Given the description of an element on the screen output the (x, y) to click on. 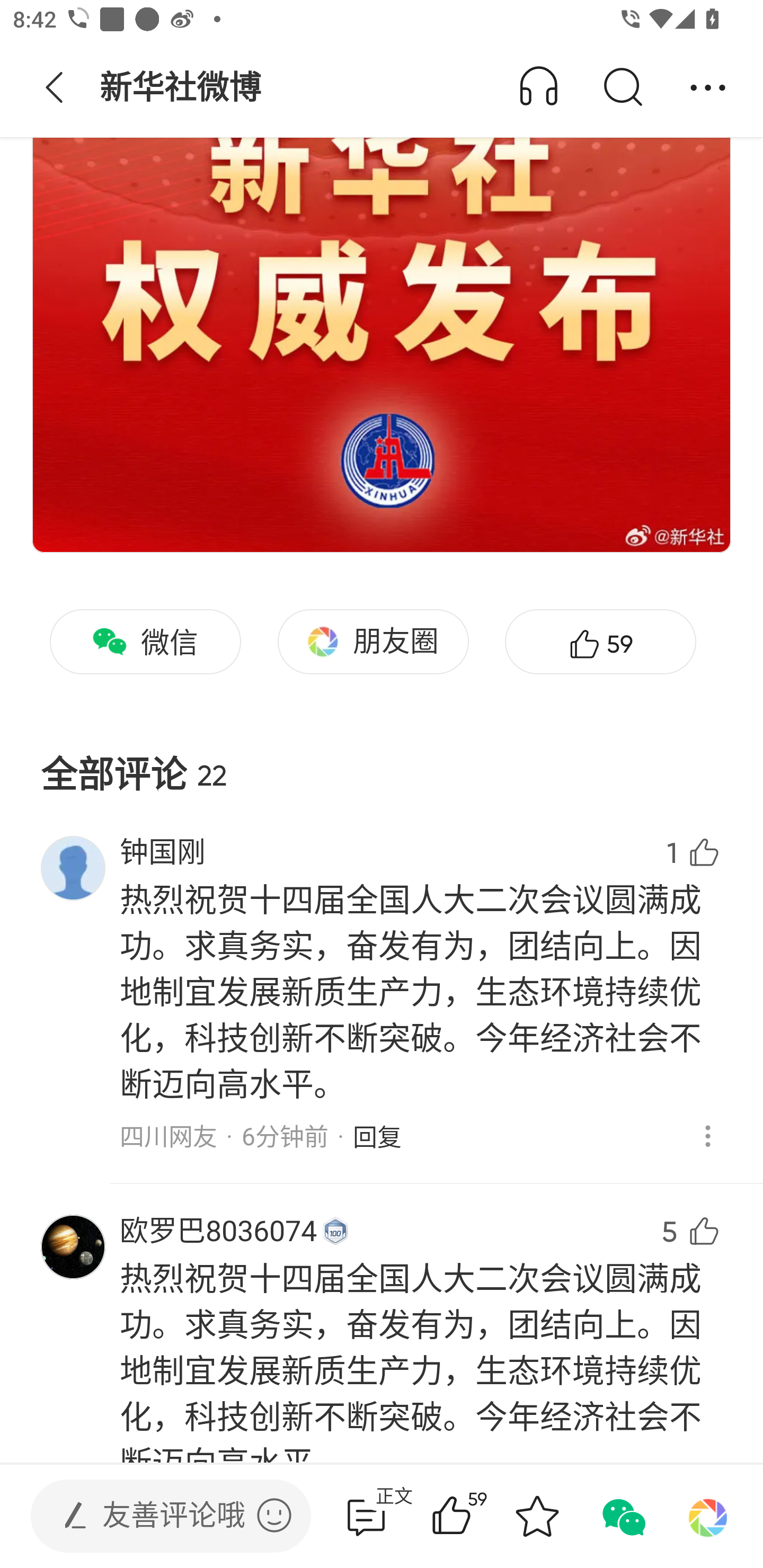
新闻图片 (381, 276)
新华社微博 (182, 87)
搜索  (622, 87)
分享  (707, 87)
 返回 (54, 87)
微信 分享到微信 (145, 641)
朋友圈 分享到朋友圈 (373, 641)
59赞 (600, 641)
全部评论 22 (381, 760)
UserRightLabel_OneMedalView 勋章 (335, 1230)
发表评论  友善评论哦 发表评论  (155, 1516)
22评论  正文 正文 (365, 1516)
59赞 (476, 1516)
收藏  (536, 1516)
分享到微信  (622, 1516)
分享到朋友圈 (707, 1516)
 (274, 1515)
